Given the description of an element on the screen output the (x, y) to click on. 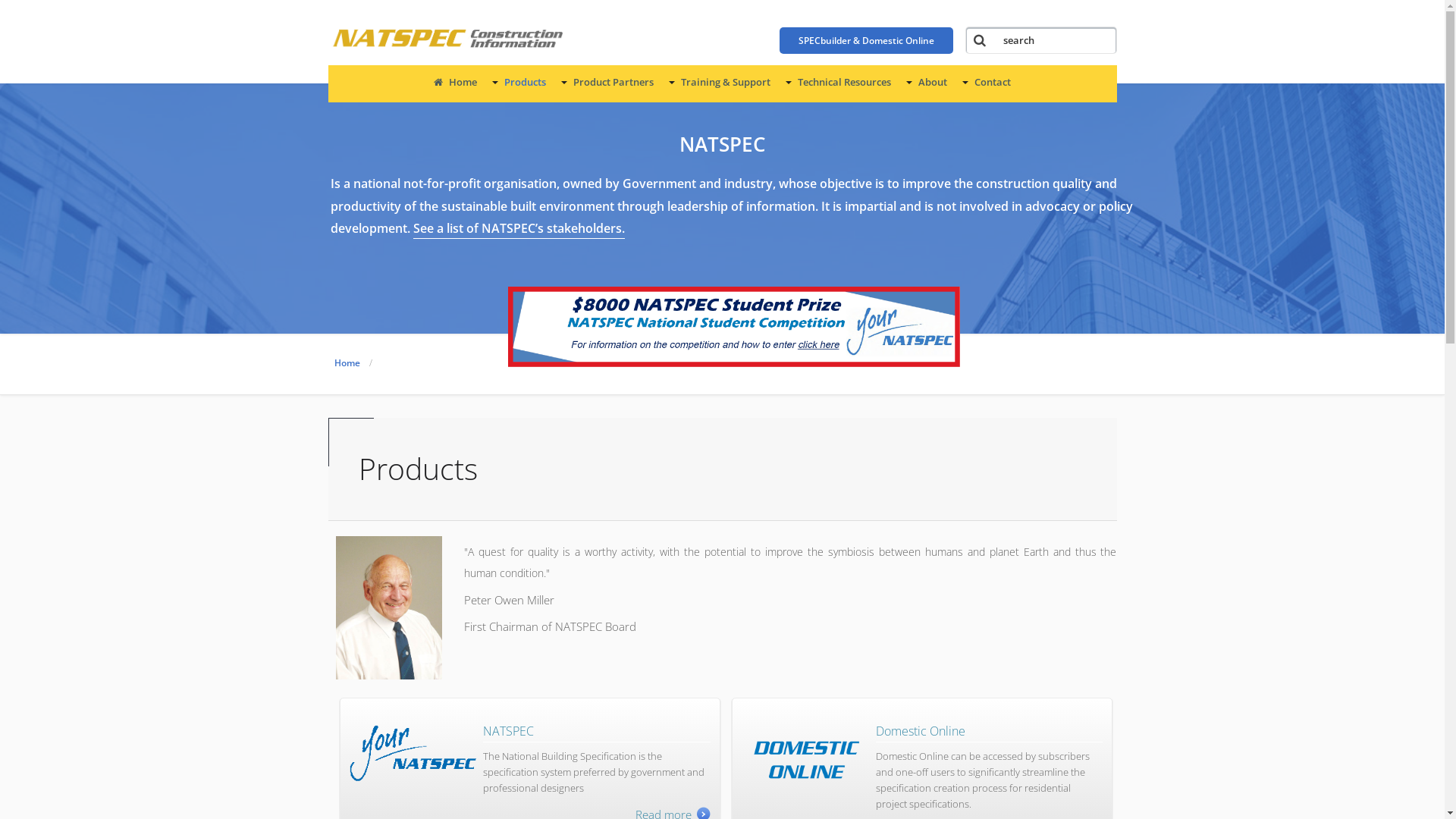
Domestic Online Element type: text (920, 730)
Technical Resources Element type: text (838, 82)
Products Element type: text (518, 82)
NATSPEC Element type: text (508, 730)
Contact Element type: text (986, 82)
Home Element type: text (346, 362)
SPECbuilder & Domestic Online Element type: text (866, 40)
Product Partners Element type: text (607, 82)
Home Element type: text (455, 82)
About Element type: text (926, 82)
Training & Support Element type: text (719, 82)
